Given the description of an element on the screen output the (x, y) to click on. 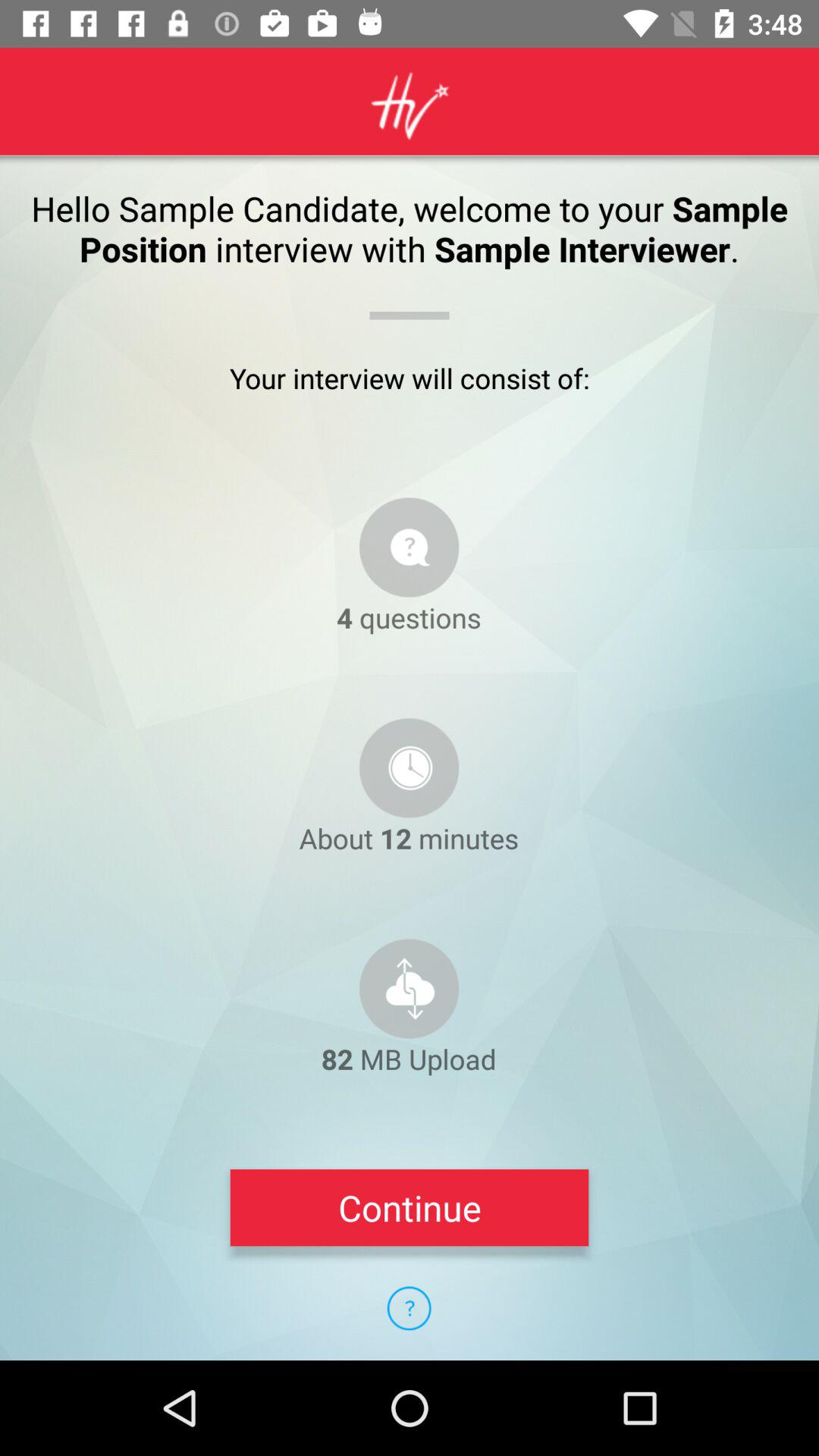
turn off continue (409, 1207)
